Given the description of an element on the screen output the (x, y) to click on. 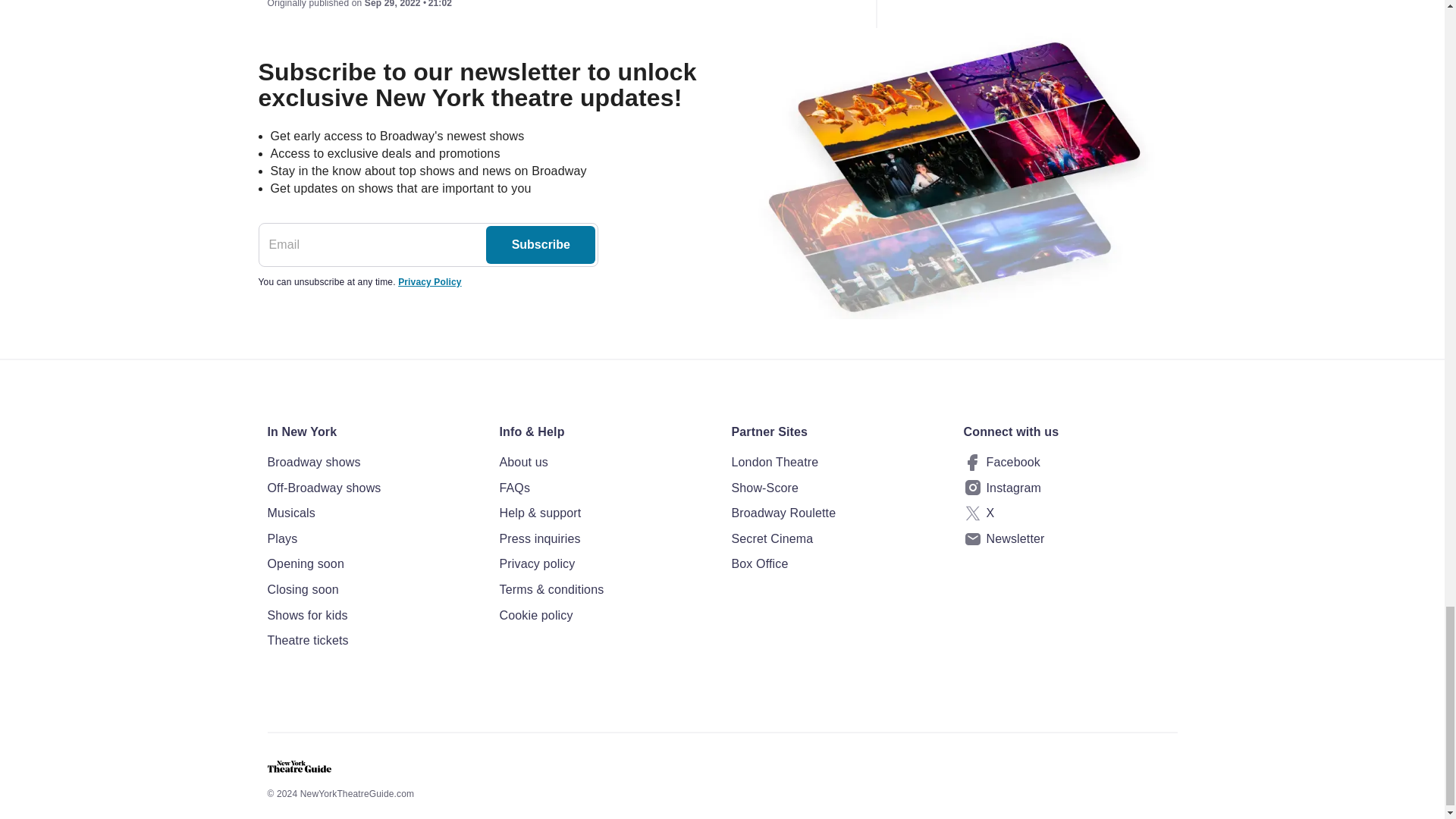
Opening soon (373, 564)
Plays (373, 538)
Shows for kids (373, 615)
Off-Broadway shows (373, 487)
Closing soon (373, 589)
Broadway shows (373, 462)
Musicals (373, 513)
